Given the description of an element on the screen output the (x, y) to click on. 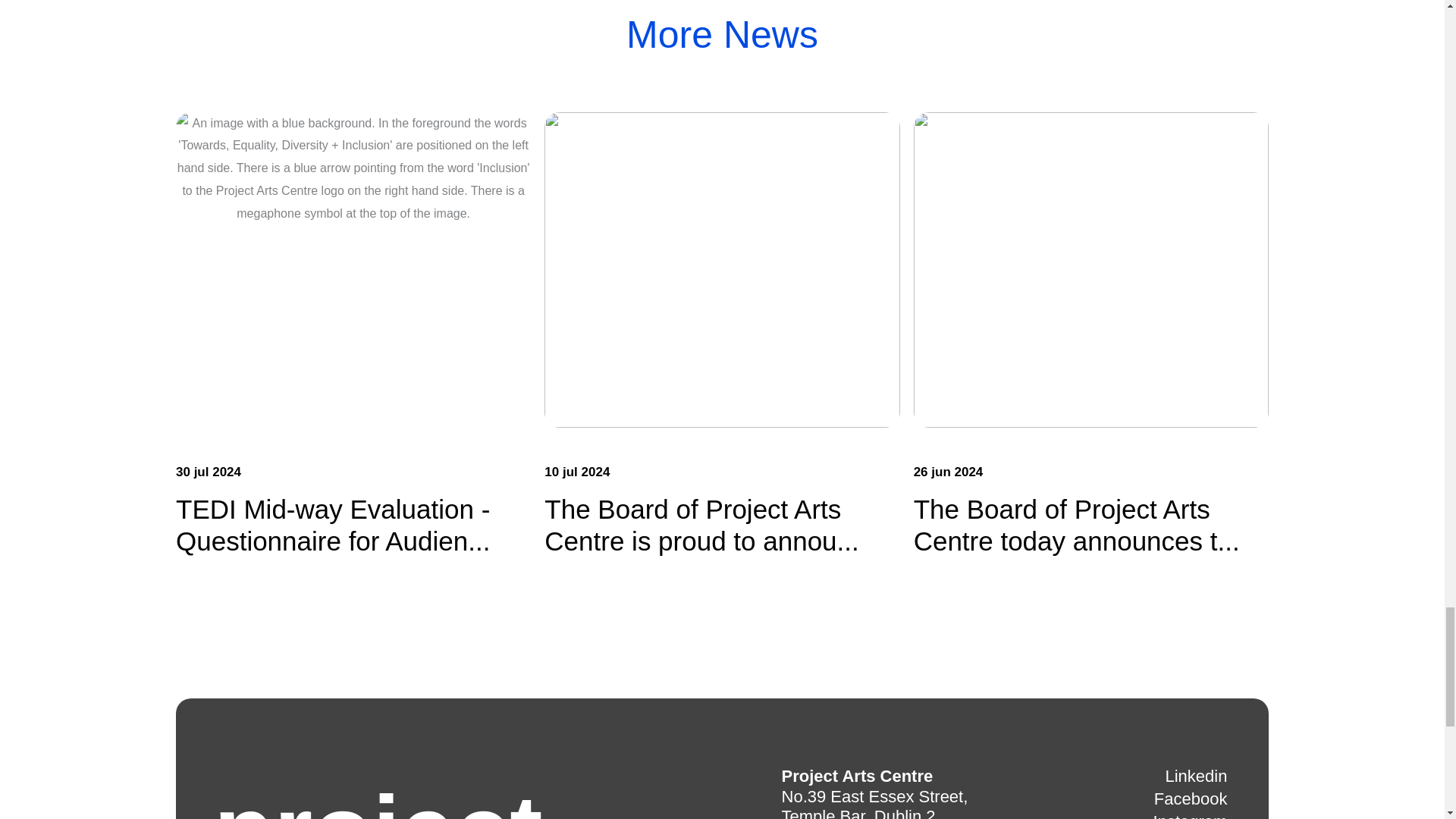
Linkedin (1195, 776)
Facebook (1190, 799)
Instagram (1190, 815)
